Given the description of an element on the screen output the (x, y) to click on. 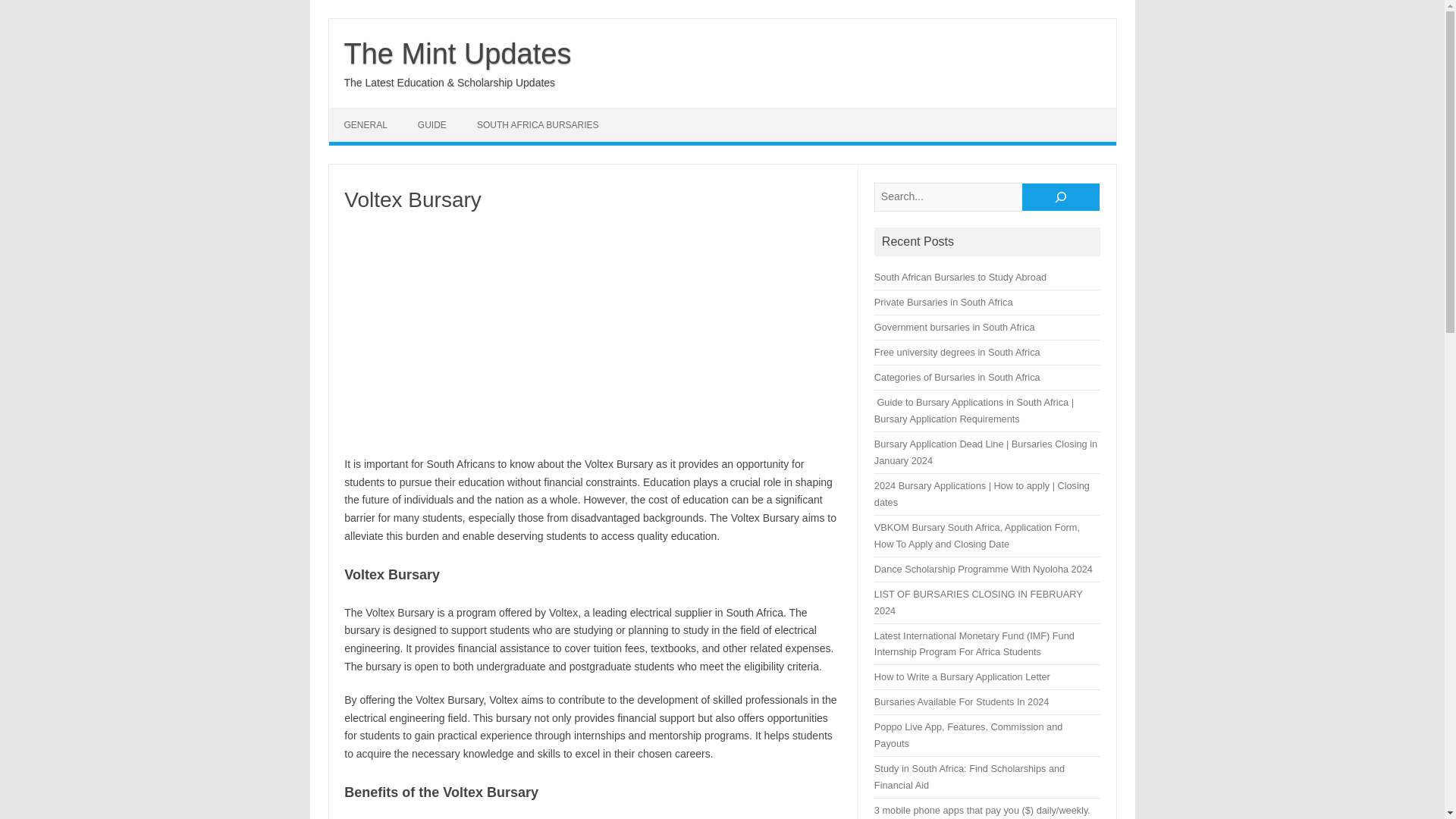
How to Write a Bursary Application Letter (962, 676)
Categories of Bursaries in South Africa (958, 377)
LIST OF BURSARIES CLOSING IN FEBRUARY 2024 (979, 602)
GENERAL (366, 124)
The Mint Updates (457, 53)
South African Bursaries to Study Abroad (960, 276)
Free university degrees in South Africa (958, 351)
